Given the description of an element on the screen output the (x, y) to click on. 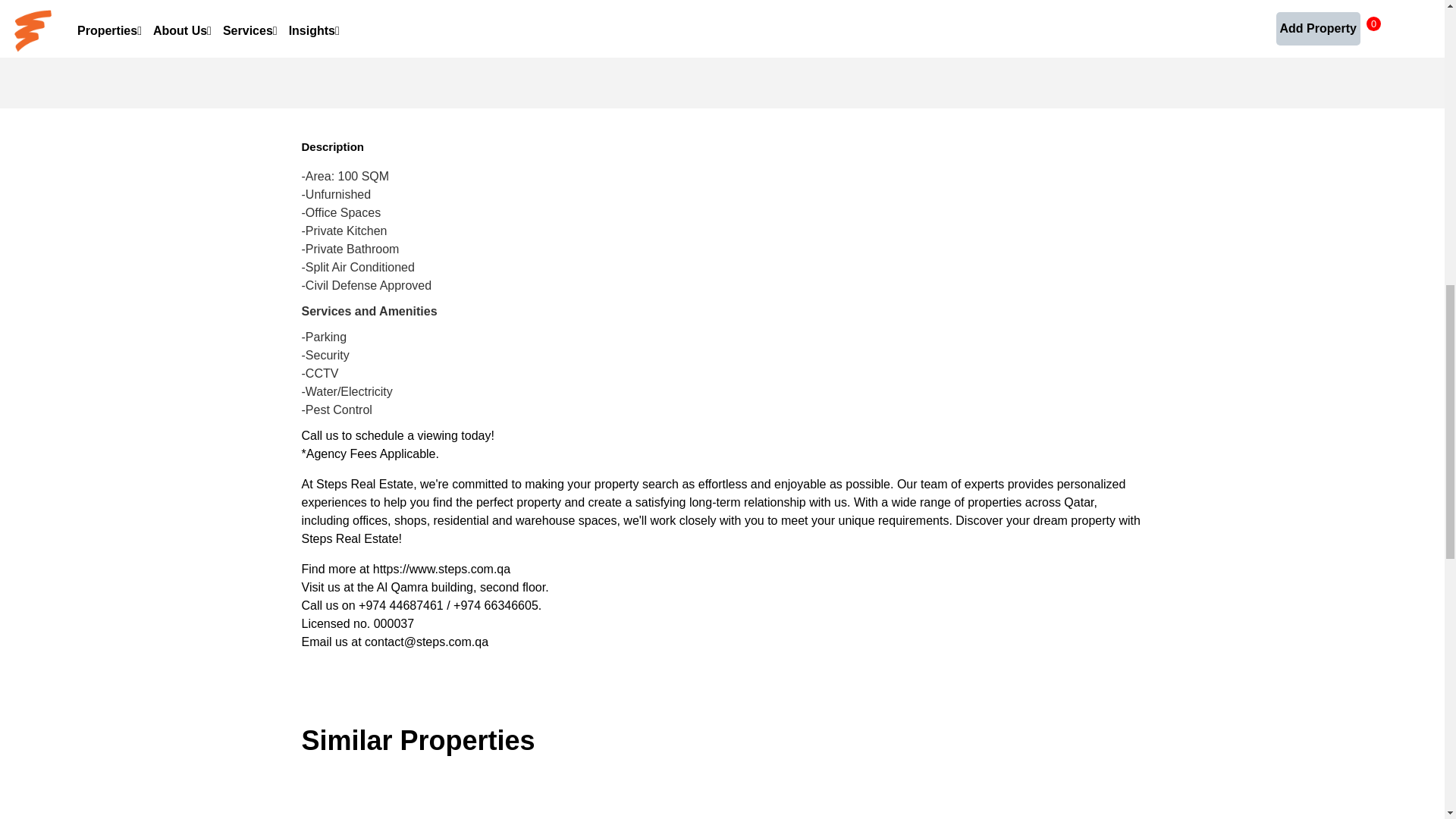
I care about this property!!! (785, 82)
